Given the description of an element on the screen output the (x, y) to click on. 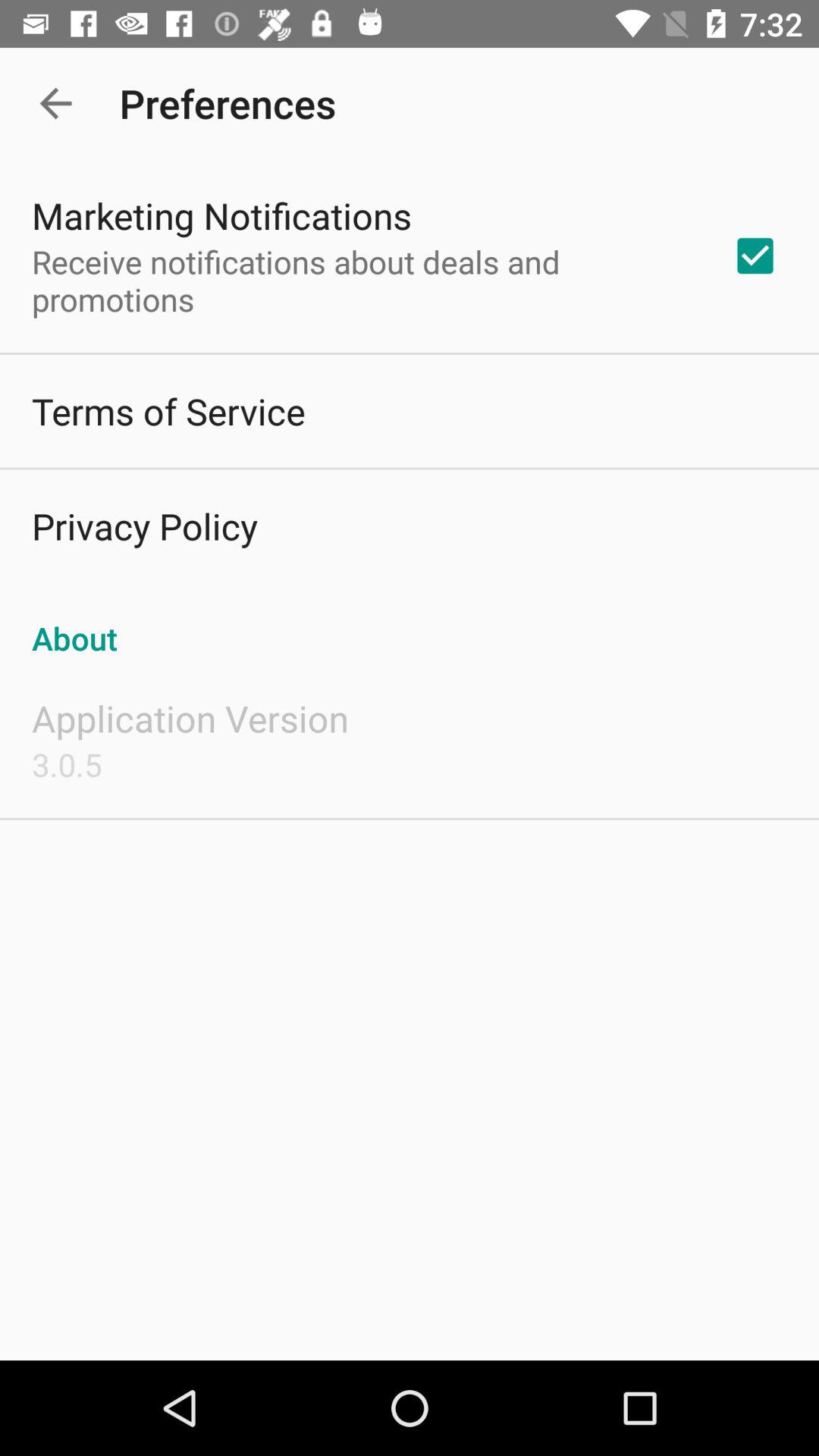
jump to terms of service item (168, 410)
